Given the description of an element on the screen output the (x, y) to click on. 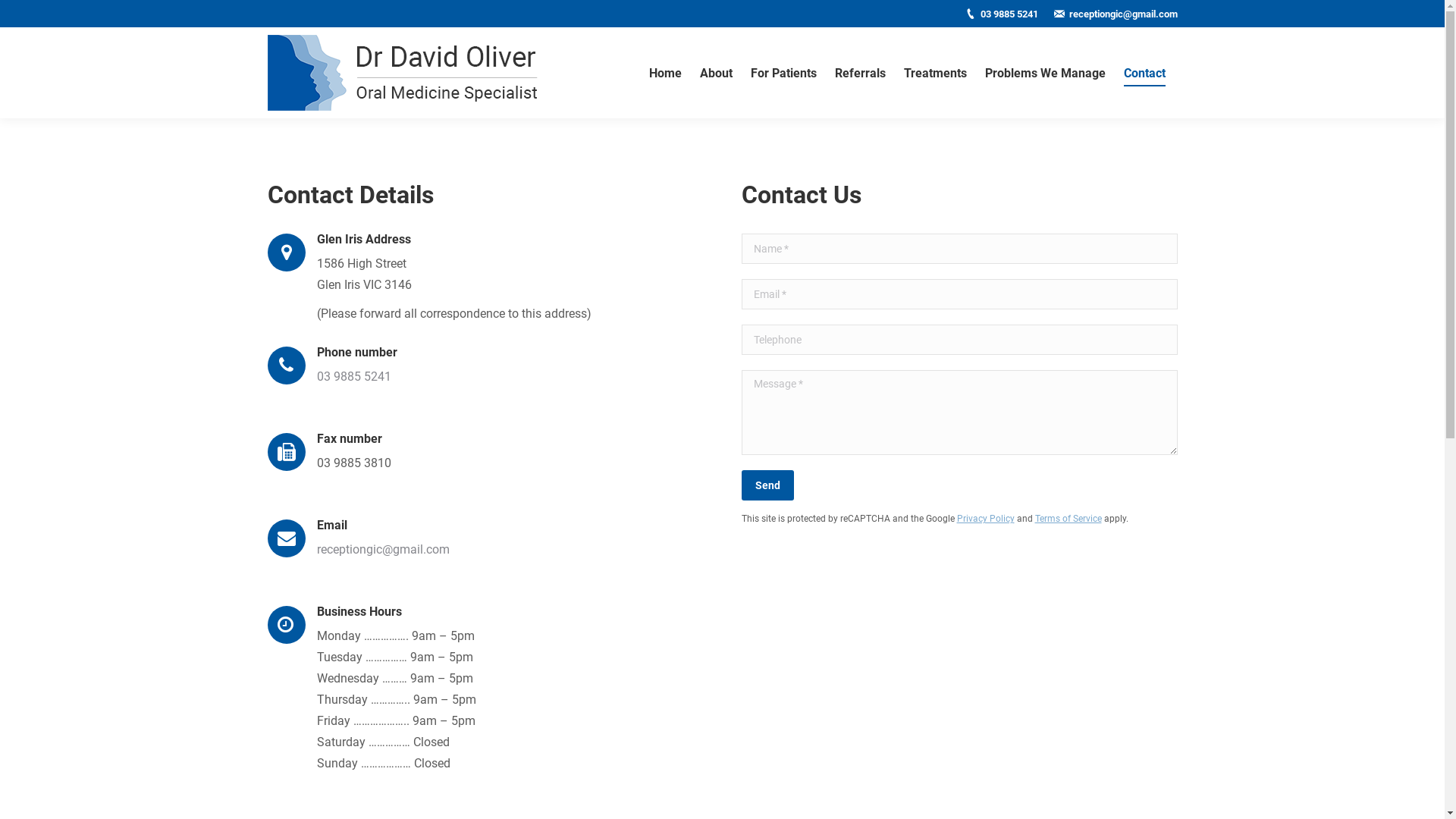
Privacy Policy Element type: text (985, 518)
Send Element type: text (767, 485)
Terms of Service Element type: text (1067, 518)
03 9885 5241 Element type: text (353, 376)
Treatments Element type: text (934, 72)
Referrals Element type: text (859, 72)
For Patients Element type: text (783, 72)
Problems We Manage Element type: text (1044, 72)
03 9885 5241 Element type: text (1008, 13)
receptiongic@gmail.com Element type: text (382, 549)
About Element type: text (715, 72)
Contact Element type: text (1144, 72)
Home Element type: text (665, 72)
receptiongic@gmail.com Element type: text (1123, 13)
